Given the description of an element on the screen output the (x, y) to click on. 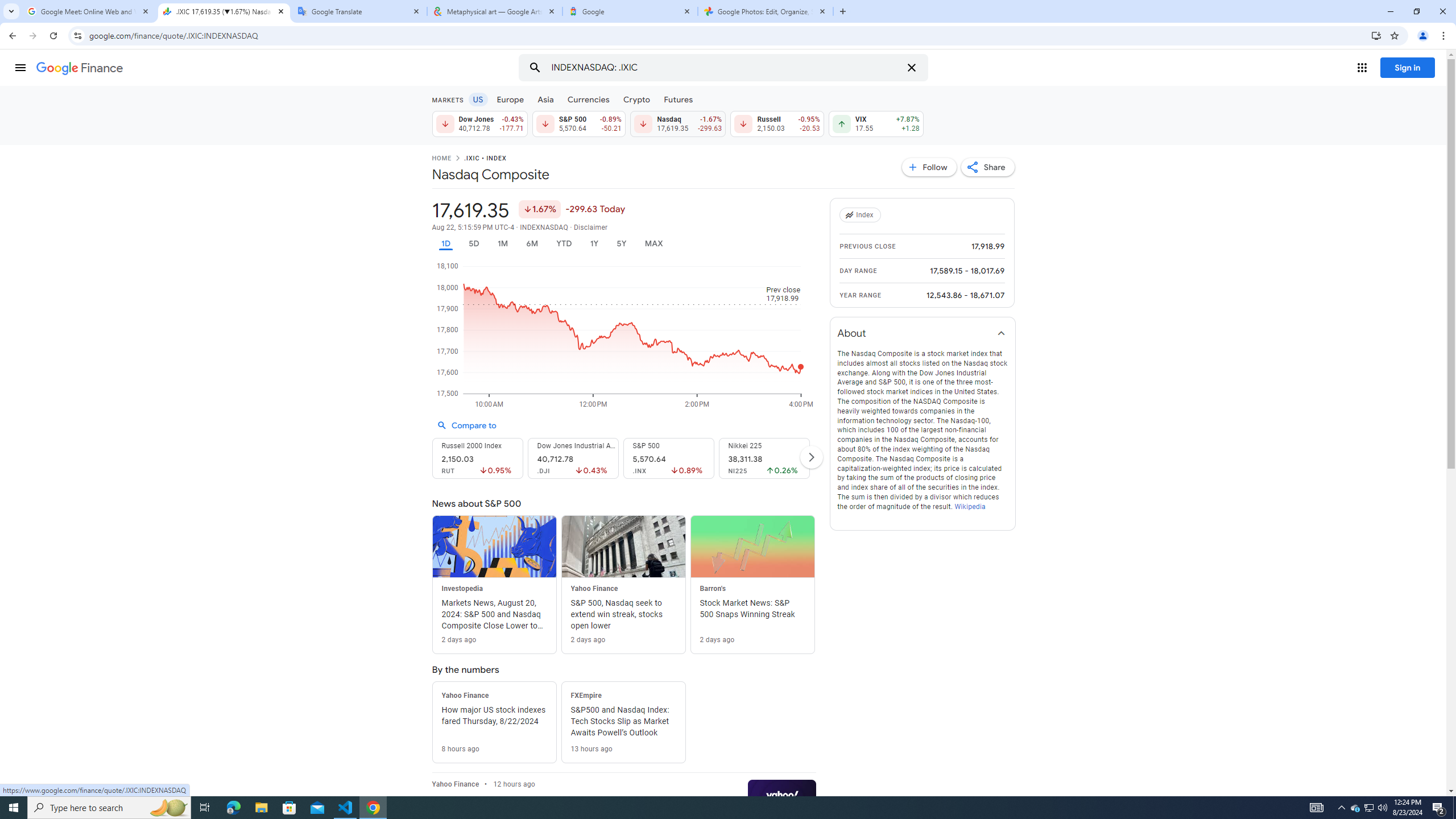
Google Translate (359, 11)
Index (861, 214)
Crypto (636, 99)
1Y (594, 243)
Install Google Finance (1376, 35)
HOME (440, 158)
Wikipedia (969, 506)
